Given the description of an element on the screen output the (x, y) to click on. 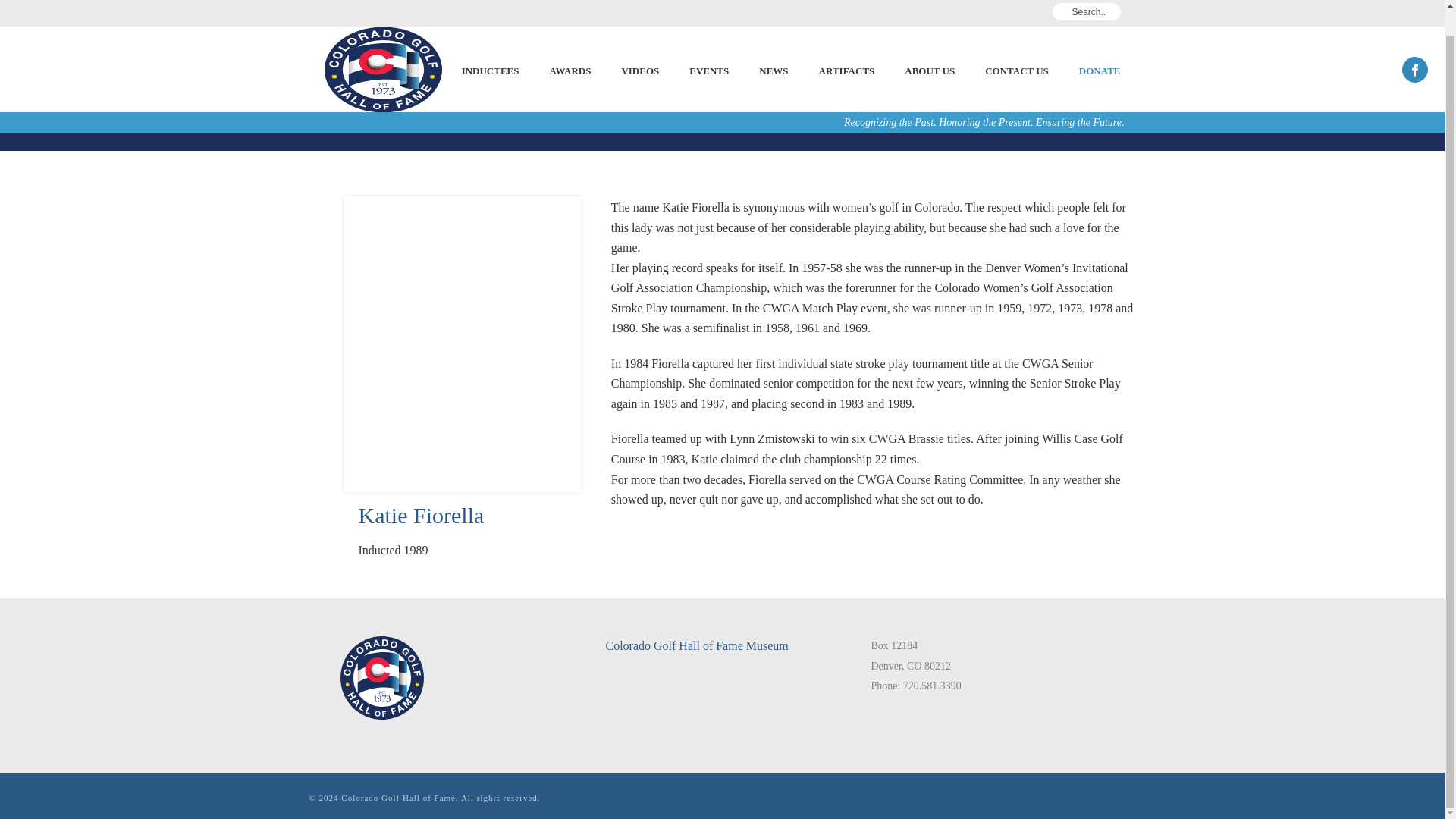
ABOUT US (929, 42)
ARTIFACTS (846, 42)
CONTACT US (1016, 42)
INDUCTEES (490, 42)
ARTIFACTS (846, 42)
CONTACT US (1016, 42)
ABOUT US (929, 42)
INDUCTEES (490, 42)
